Given the description of an element on the screen output the (x, y) to click on. 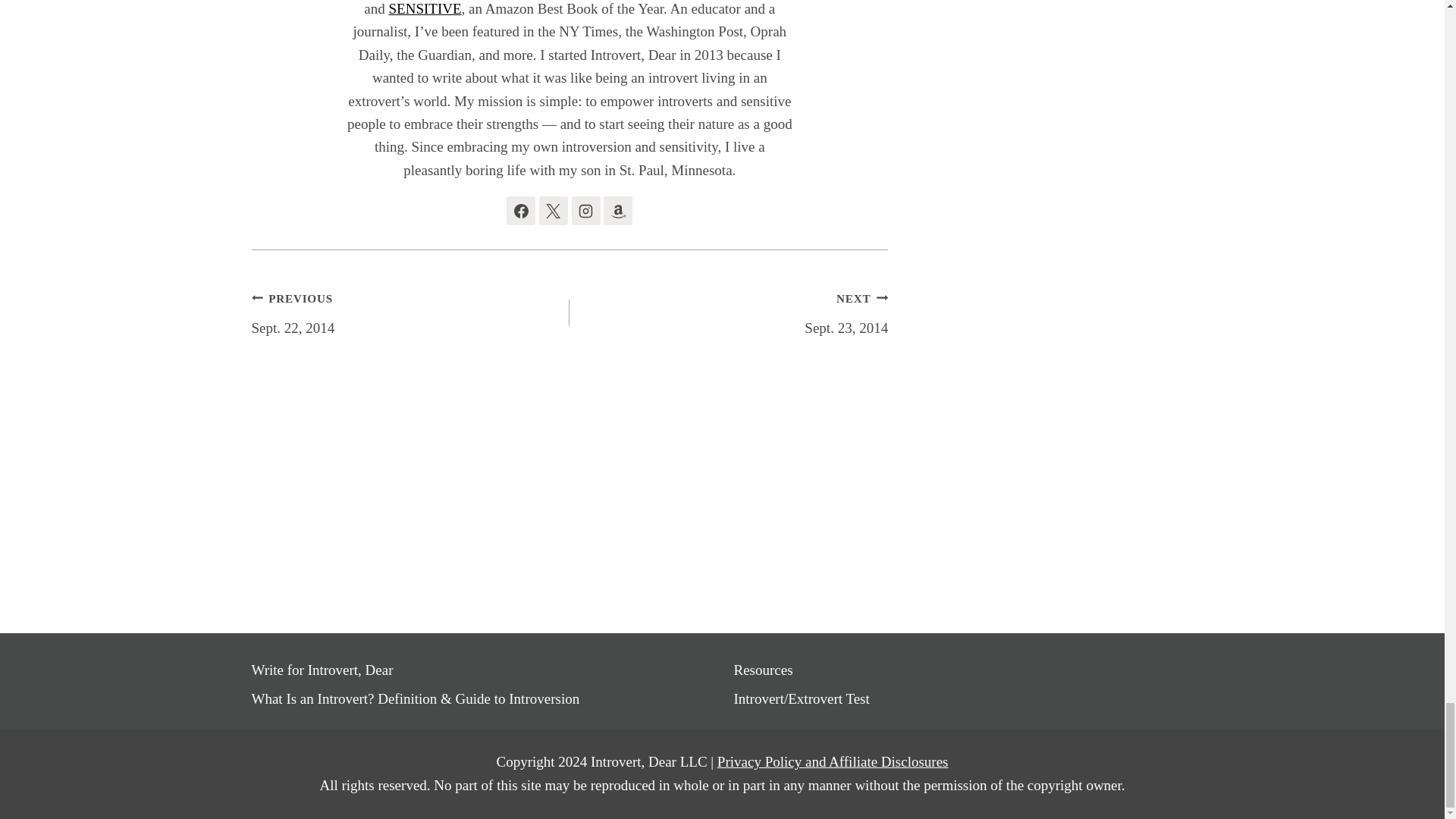
Follow Jenn Granneman on Instagram (585, 210)
Follow Jenn Granneman on Amazon (617, 210)
Follow Jenn Granneman on X formerly Twitter (552, 210)
Follow Jenn Granneman on Facebook (520, 210)
